Given the description of an element on the screen output the (x, y) to click on. 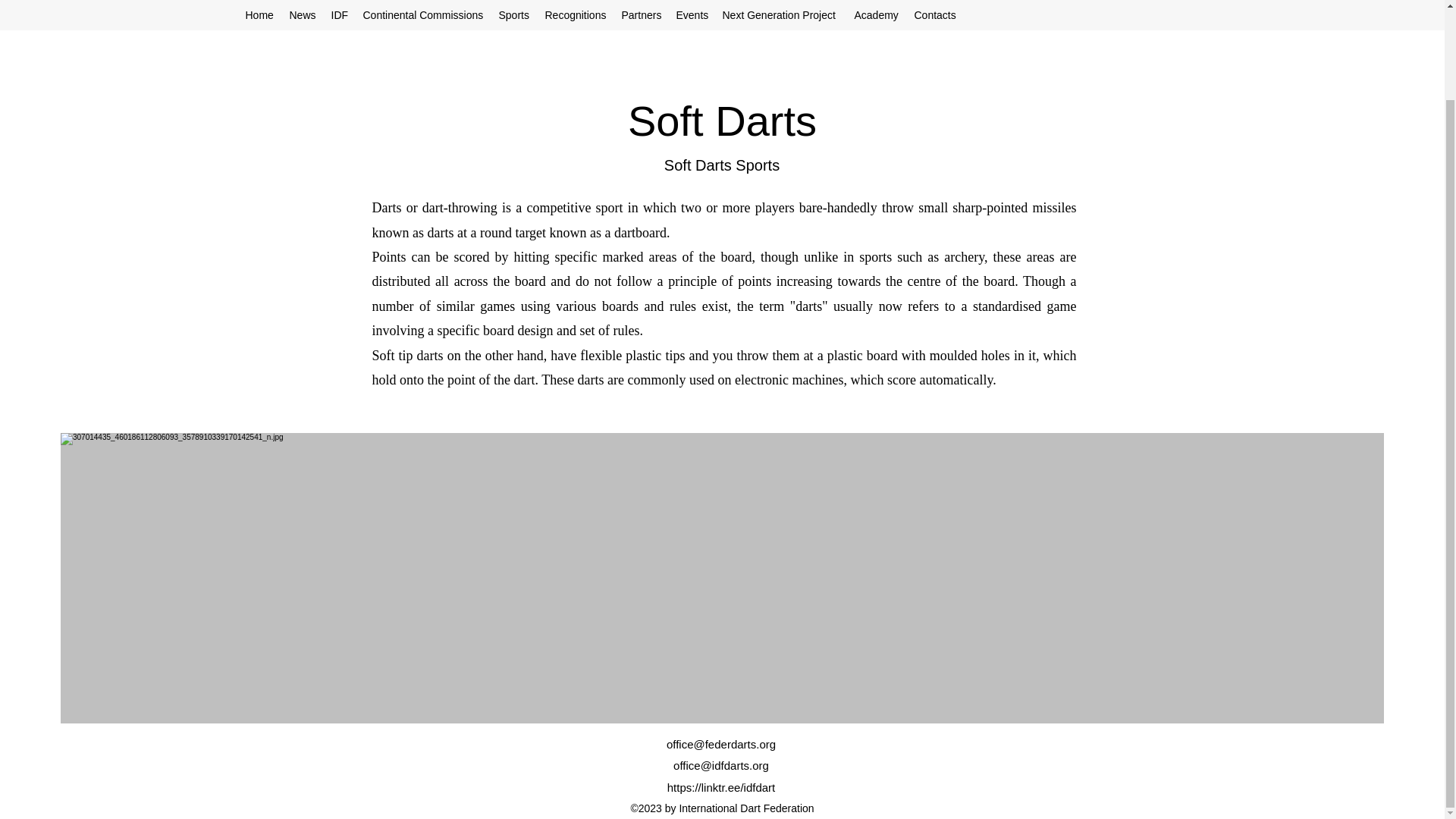
Events (691, 15)
Partners (641, 15)
Continental Commissions (422, 15)
Next Generation Project (779, 15)
Home (260, 15)
Academy (875, 15)
Recognitions (574, 15)
News (302, 15)
Contacts (935, 15)
